Given the description of an element on the screen output the (x, y) to click on. 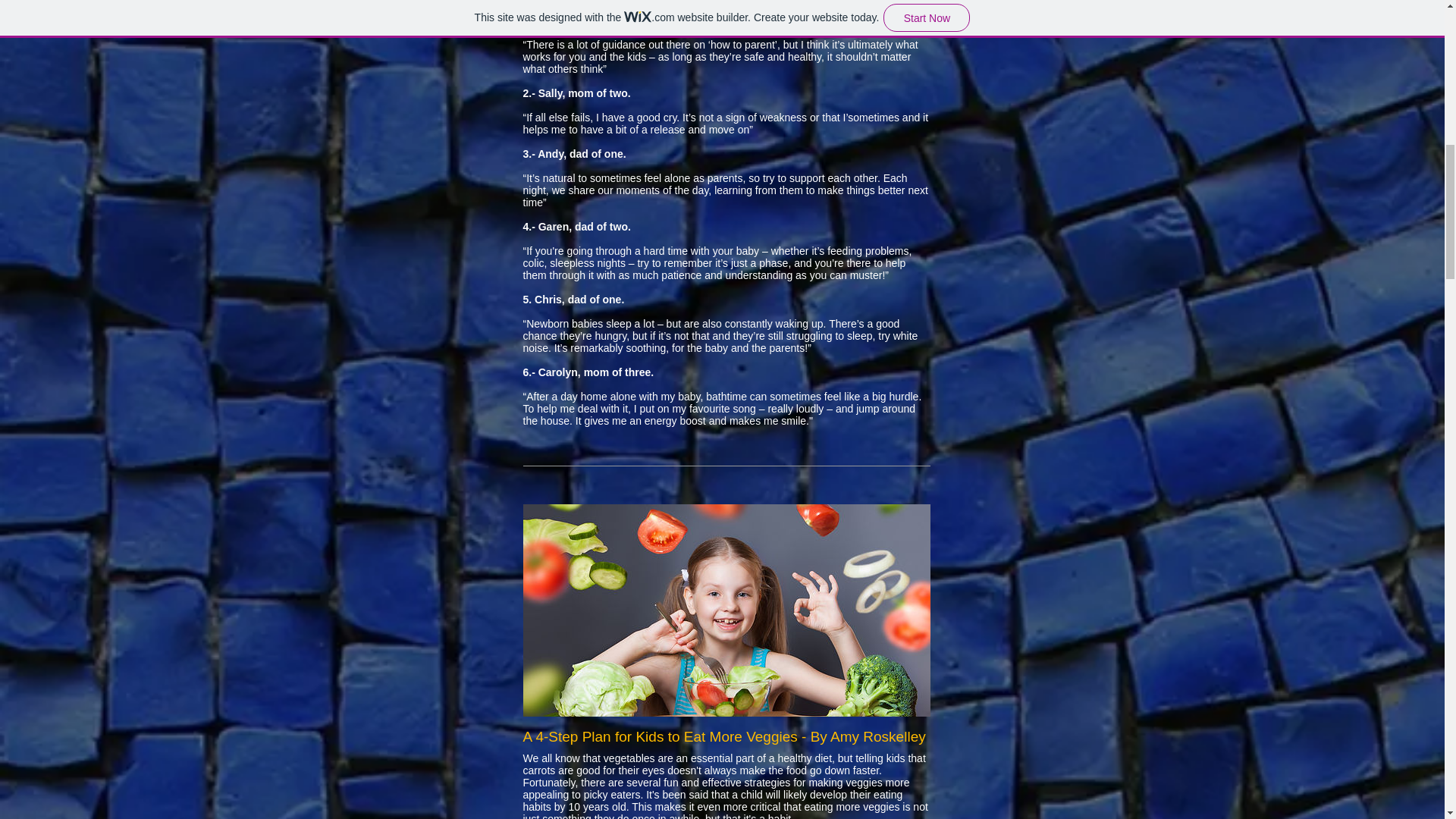
girl-with-lots-of-vegetales.jpg (726, 610)
